Given the description of an element on the screen output the (x, y) to click on. 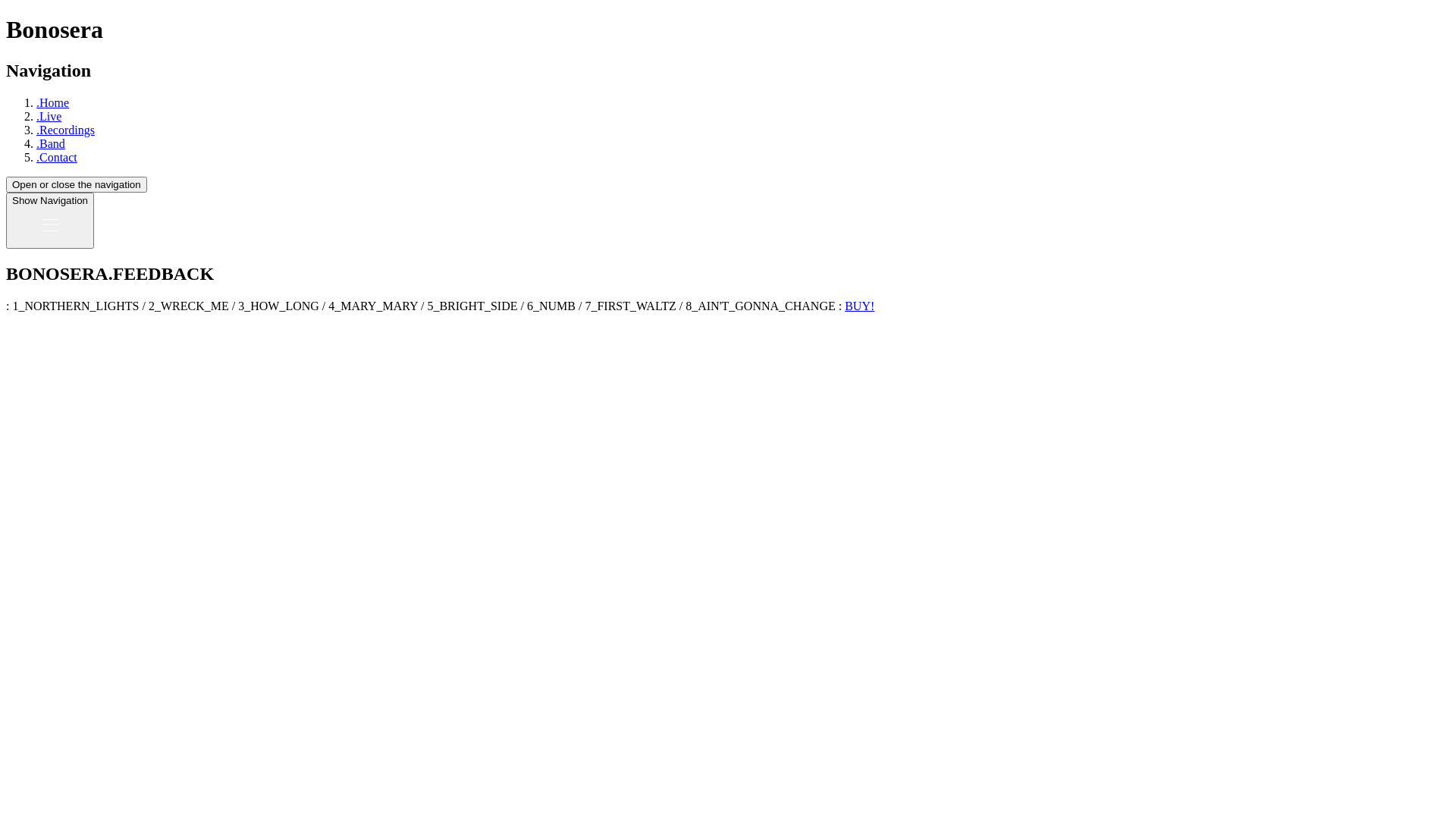
.Contact Element type: text (56, 156)
Open or close the navigation Element type: text (76, 184)
.Home Element type: text (52, 102)
BUY! Element type: text (859, 305)
.Recordings Element type: text (65, 129)
Show Navigation Element type: text (50, 220)
.Live Element type: text (48, 115)
.Band Element type: text (50, 143)
